Given the description of an element on the screen output the (x, y) to click on. 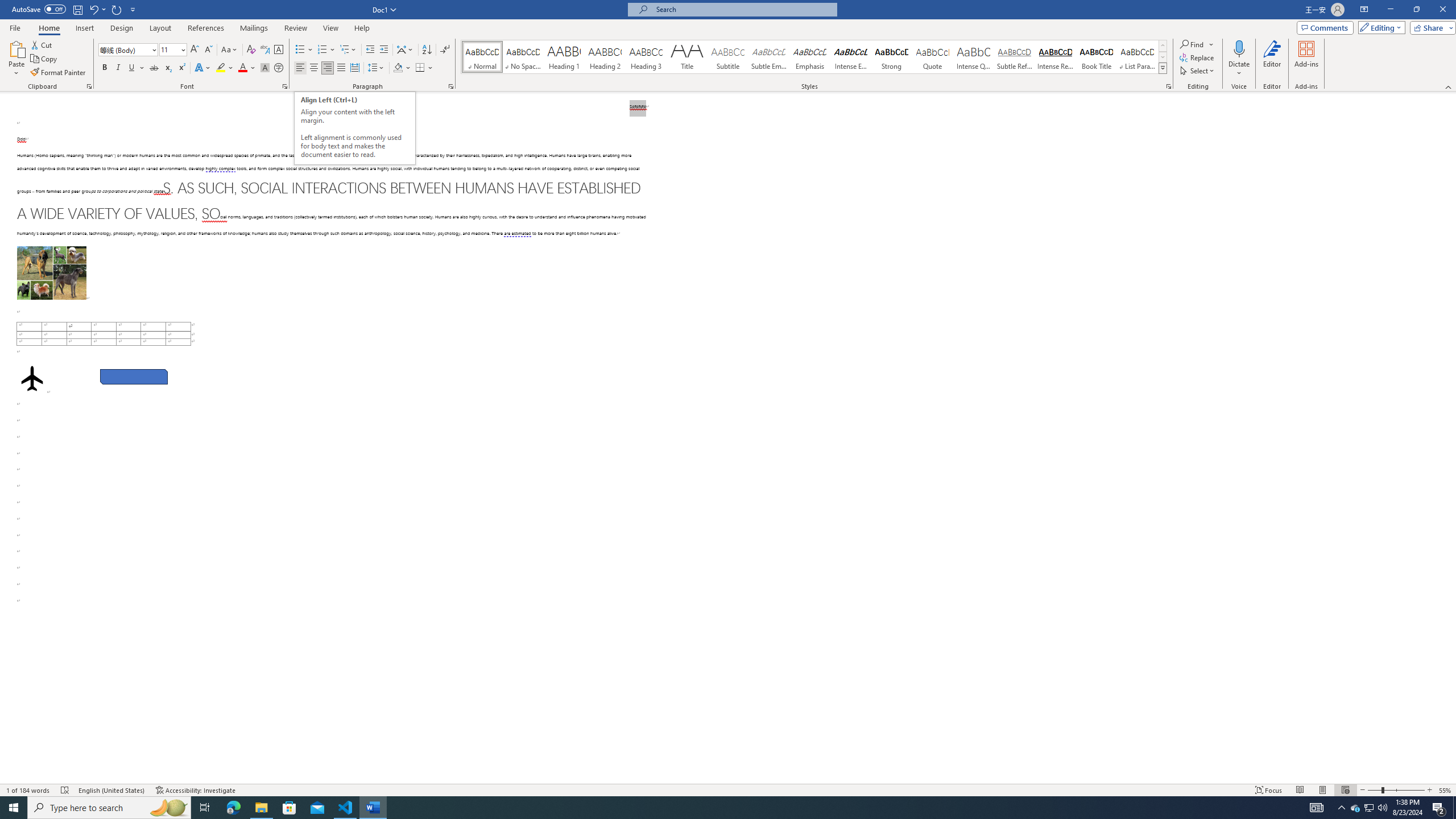
Undo Paragraph Alignment (96, 9)
Quote (932, 56)
